Given the description of an element on the screen output the (x, y) to click on. 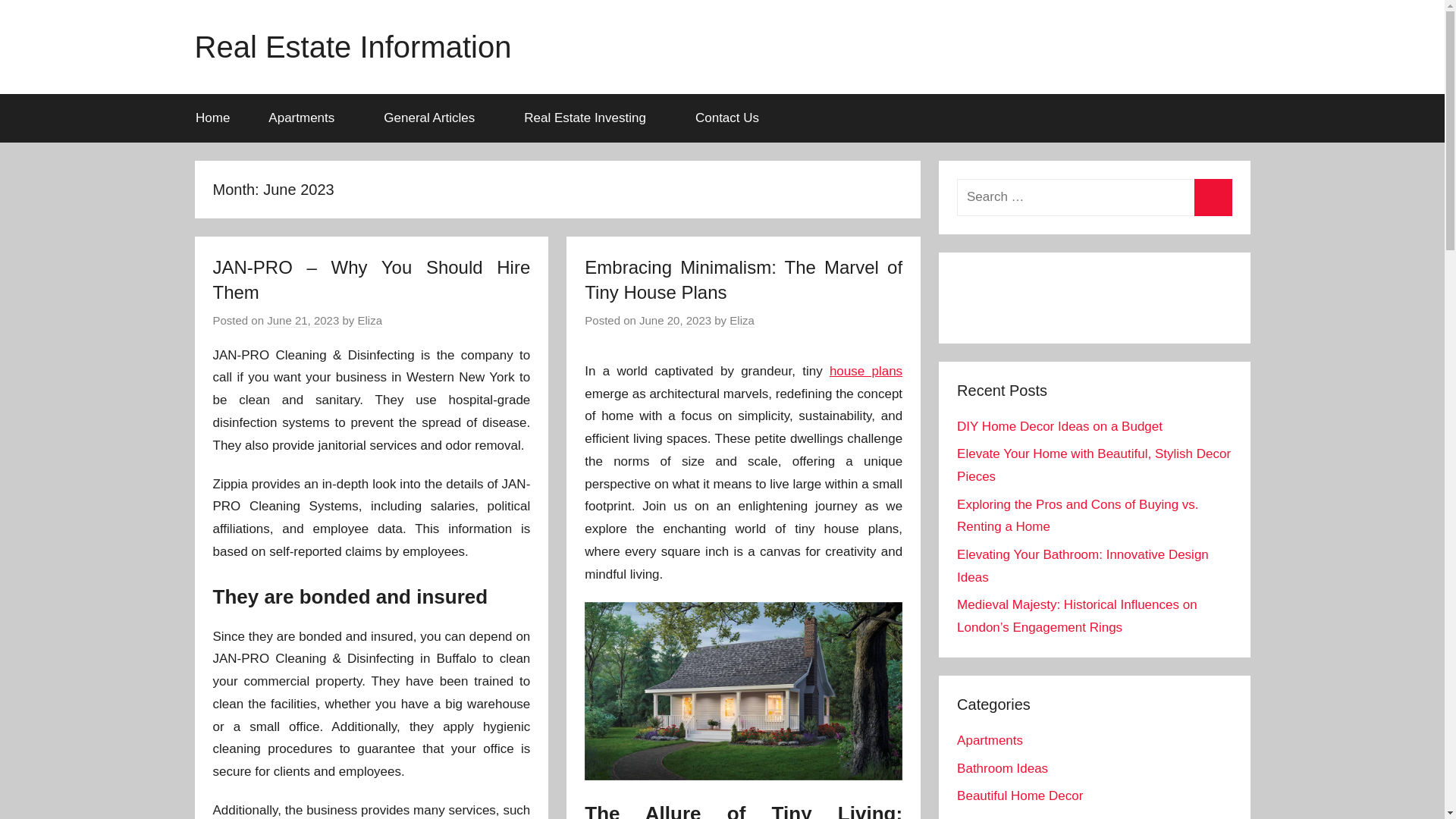
DIY Home Decor Ideas on a Budget (1058, 426)
Apartments (306, 118)
Eliza (370, 320)
Search (1212, 197)
Contact Us (726, 118)
Elevate Your Home with Beautiful, Stylish Decor Pieces (1093, 465)
Eliza (741, 320)
June 21, 2023 (302, 320)
View all posts by Eliza (741, 320)
Embracing Minimalism: The Marvel of Tiny House Plans (743, 280)
Home (212, 118)
Elevating Your Bathroom: Innovative Design Ideas (1082, 565)
June 20, 2023 (675, 320)
Real Estate Investing (591, 118)
View all posts by Eliza (370, 320)
